Given the description of an element on the screen output the (x, y) to click on. 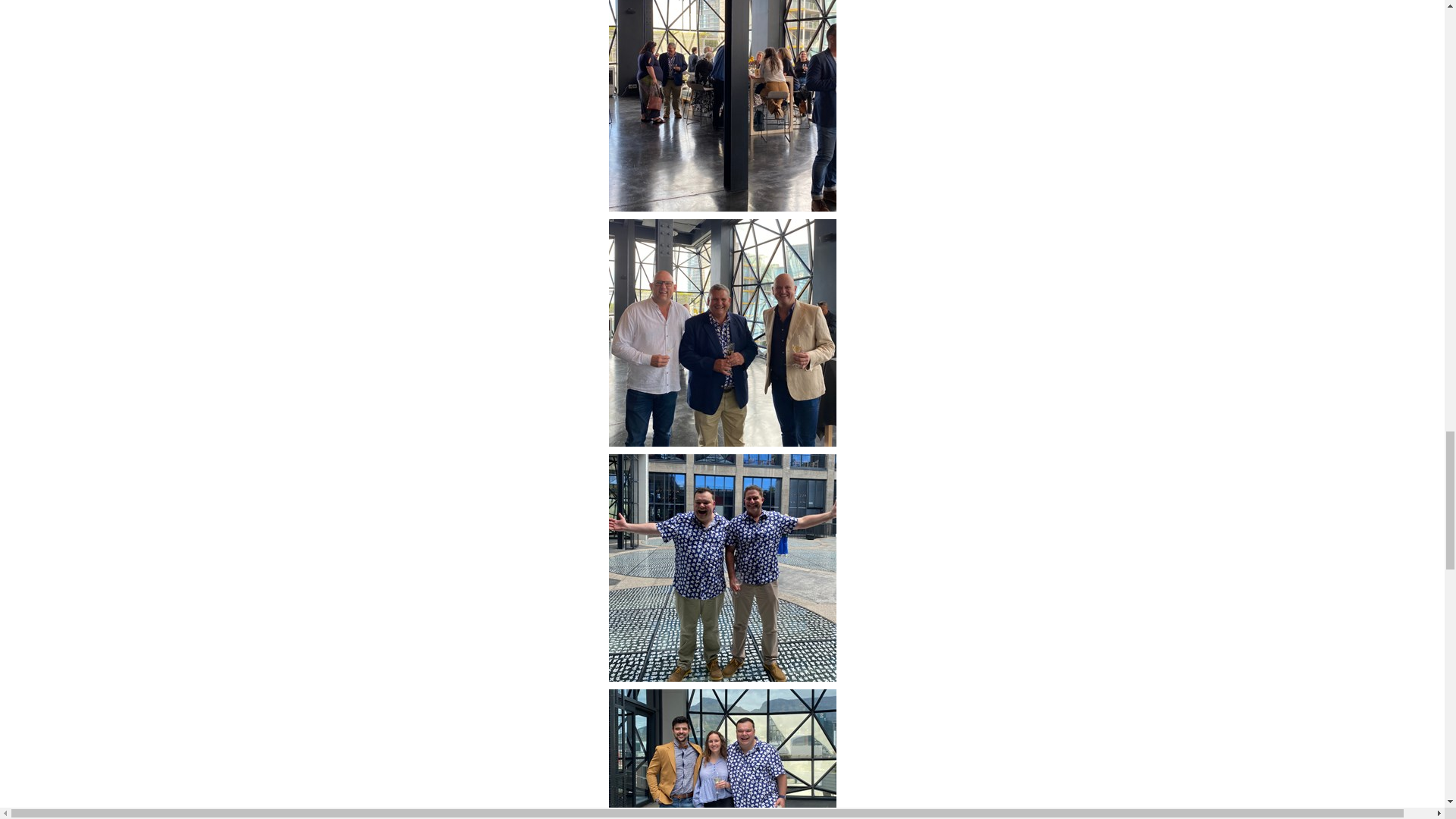
Nick with guests (721, 331)
Pinch of Salt Launch (721, 96)
